Given the description of an element on the screen output the (x, y) to click on. 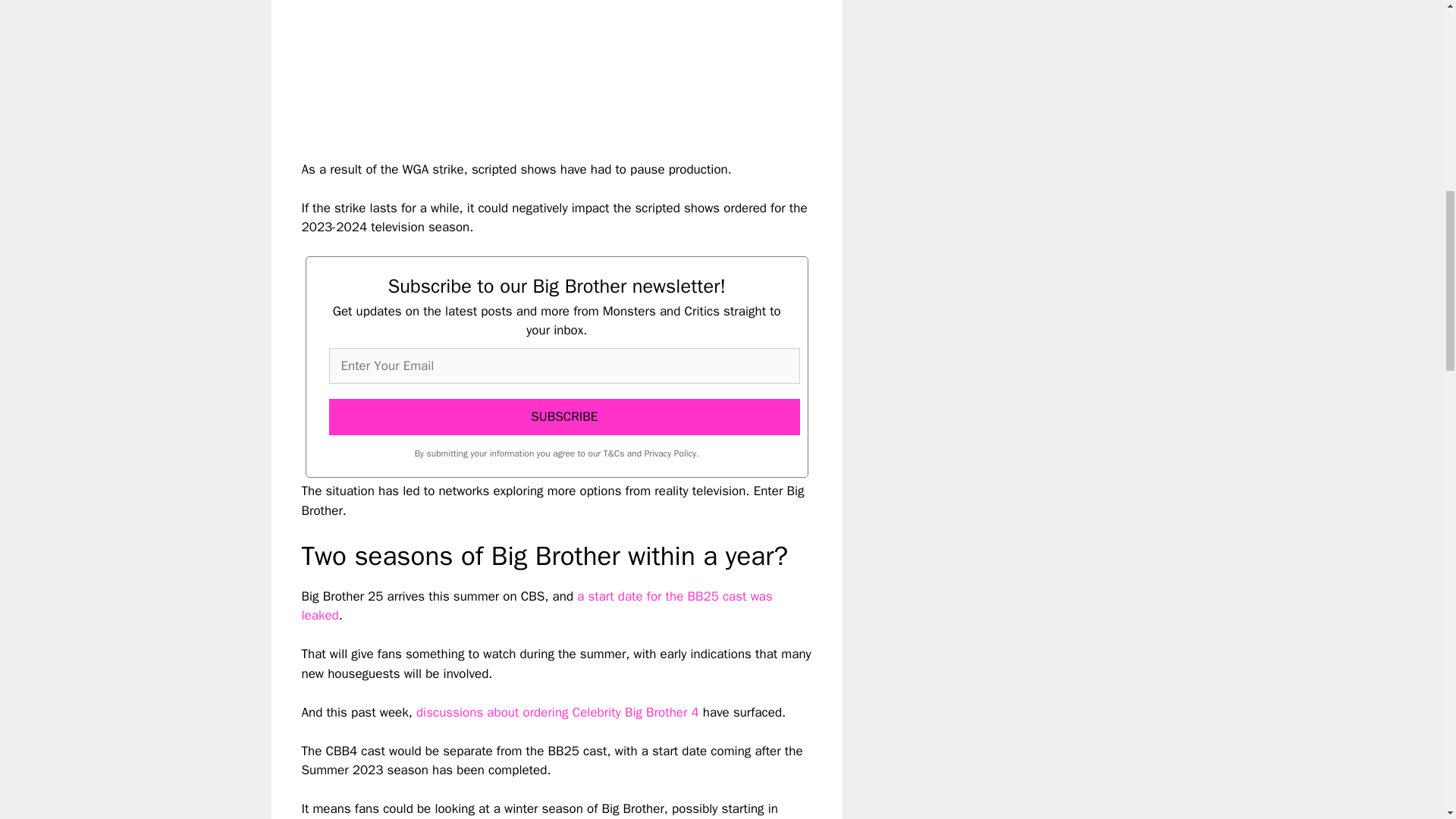
SUBSCRIBE (564, 416)
YouTube video player (513, 67)
discussions about ordering Celebrity Big Brother 4 (557, 712)
a start date for the BB25 cast was leaked (537, 606)
SUBSCRIBE (564, 416)
